Given the description of an element on the screen output the (x, y) to click on. 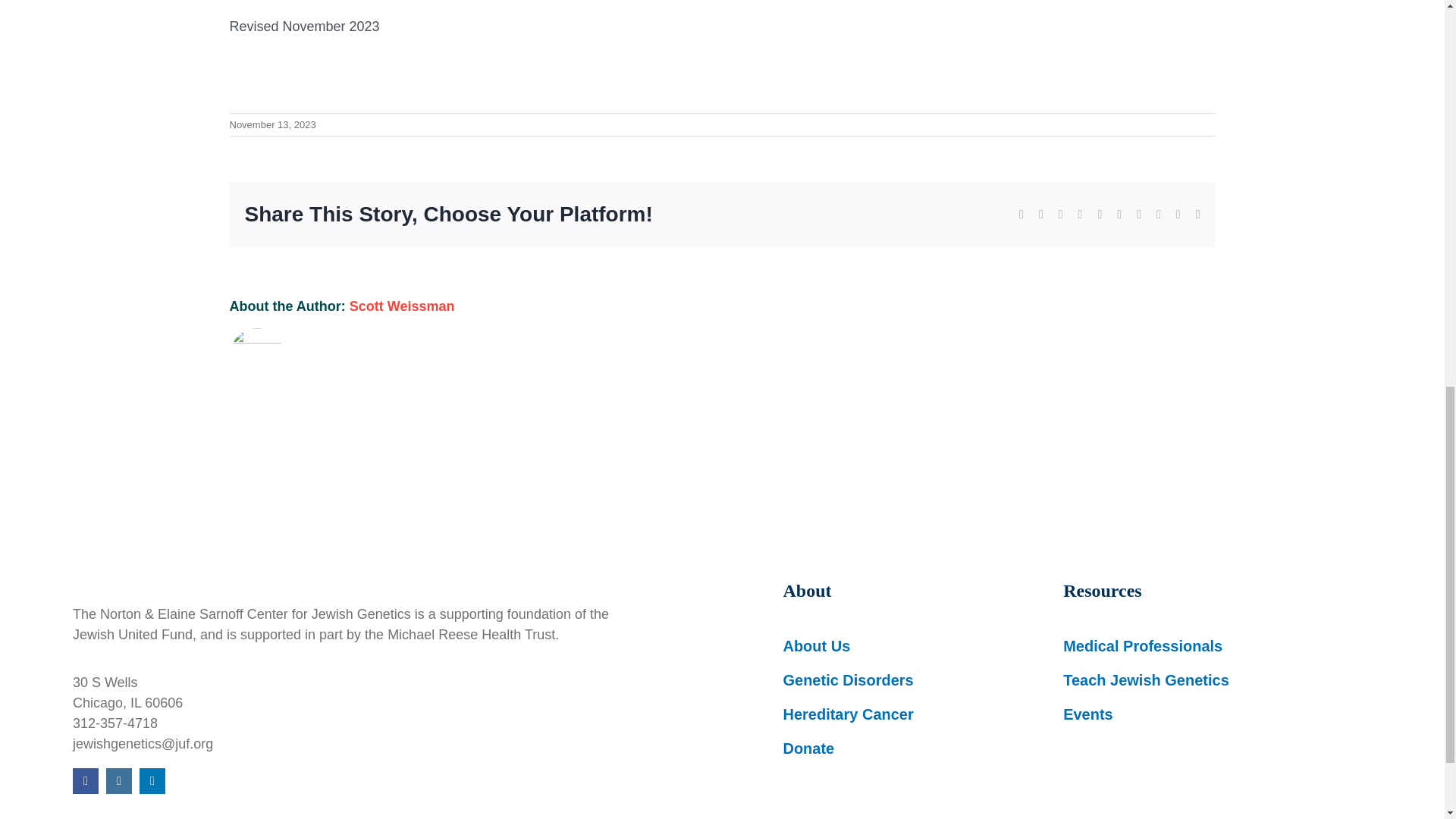
Facebook (85, 780)
Posts by Scott Weissman (401, 305)
jewishunitedfund-logo (299, 557)
